Given the description of an element on the screen output the (x, y) to click on. 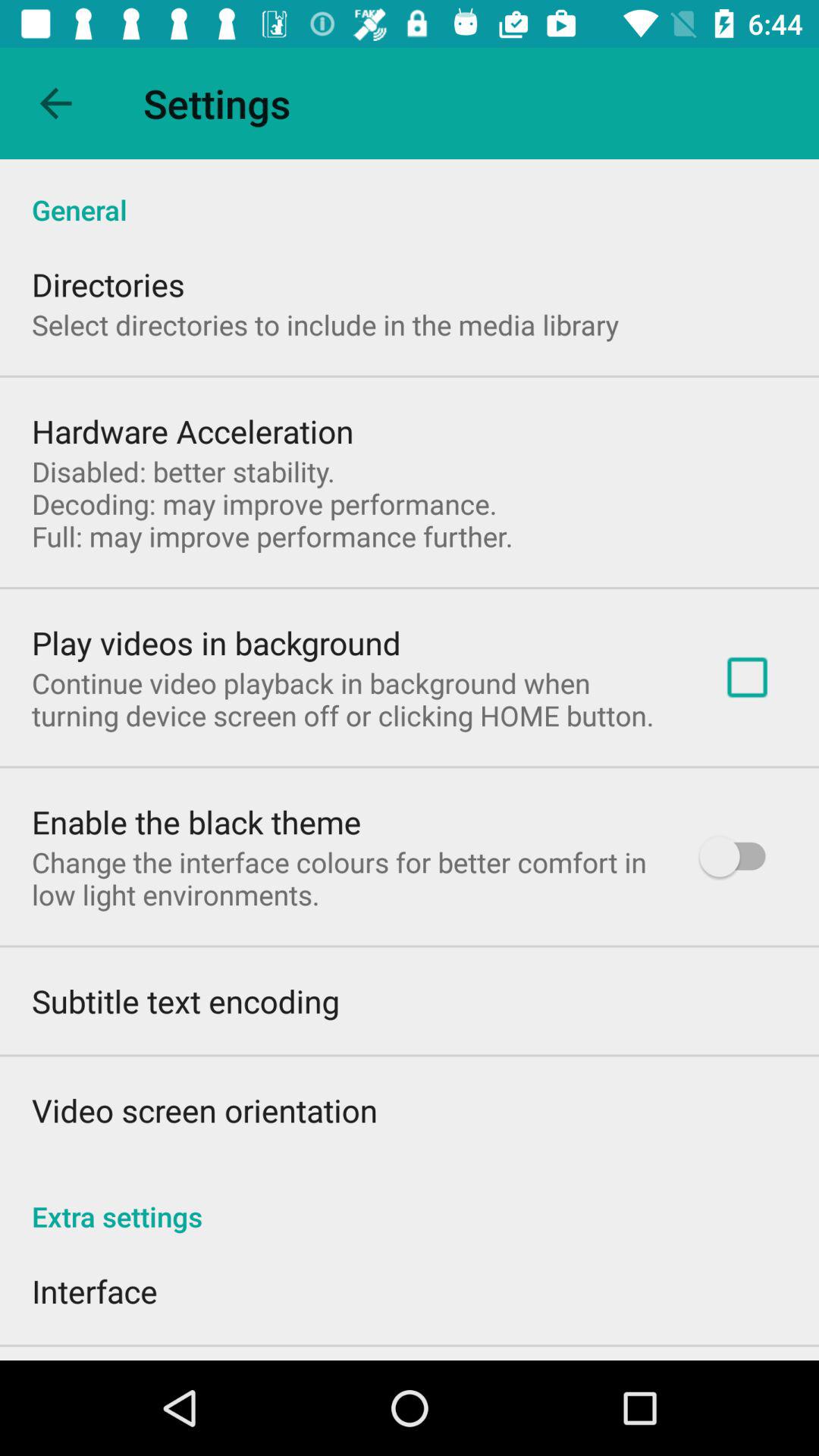
launch the item above extra settings app (739, 856)
